Given the description of an element on the screen output the (x, y) to click on. 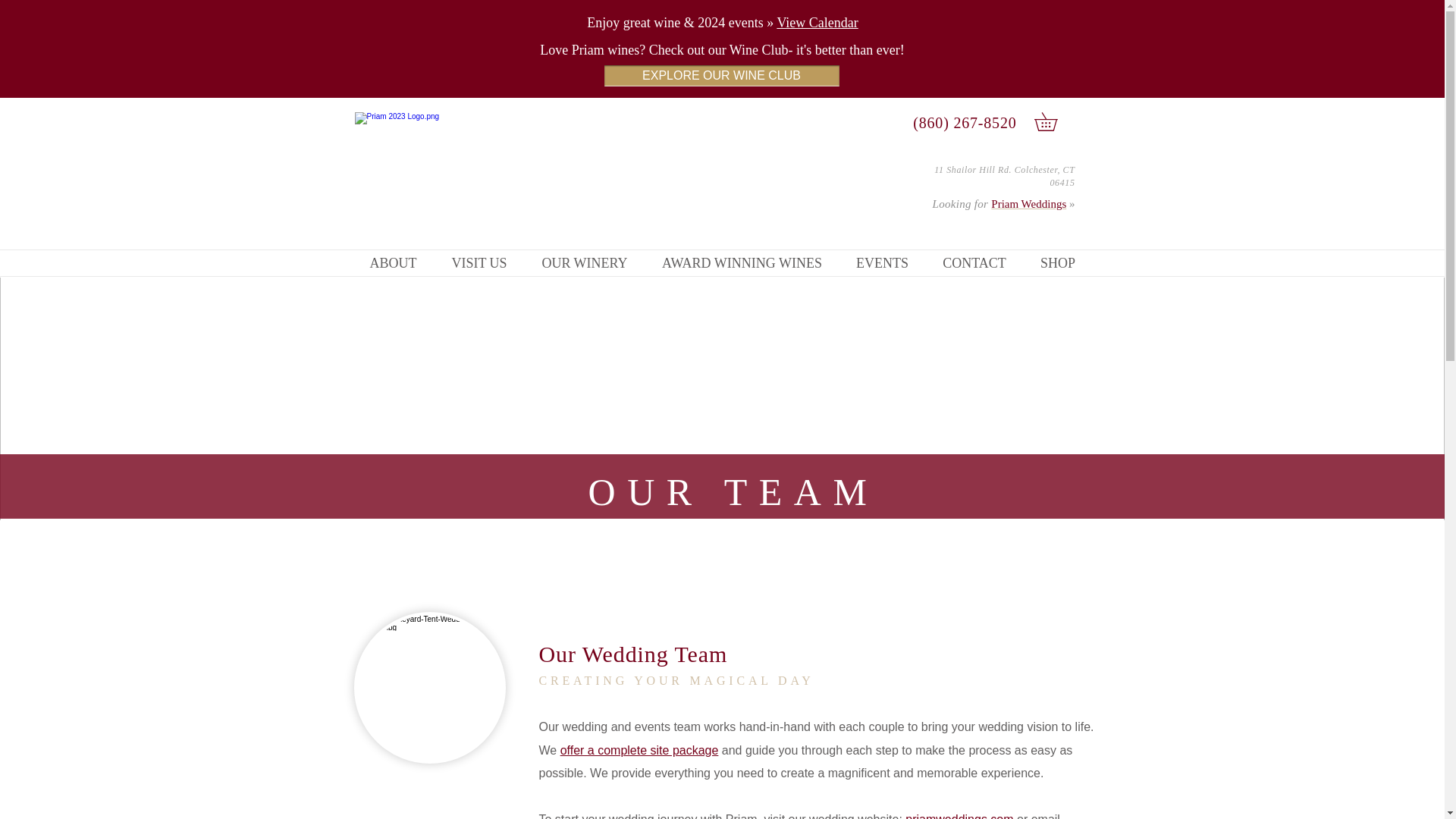
SHOP (1058, 262)
EXPLORE OUR WINE CLUB (721, 75)
priamweddings.com (959, 816)
View Calendar (816, 22)
ABOUT (392, 262)
offer a complete site package (639, 749)
CONTACT (973, 262)
